Given the description of an element on the screen output the (x, y) to click on. 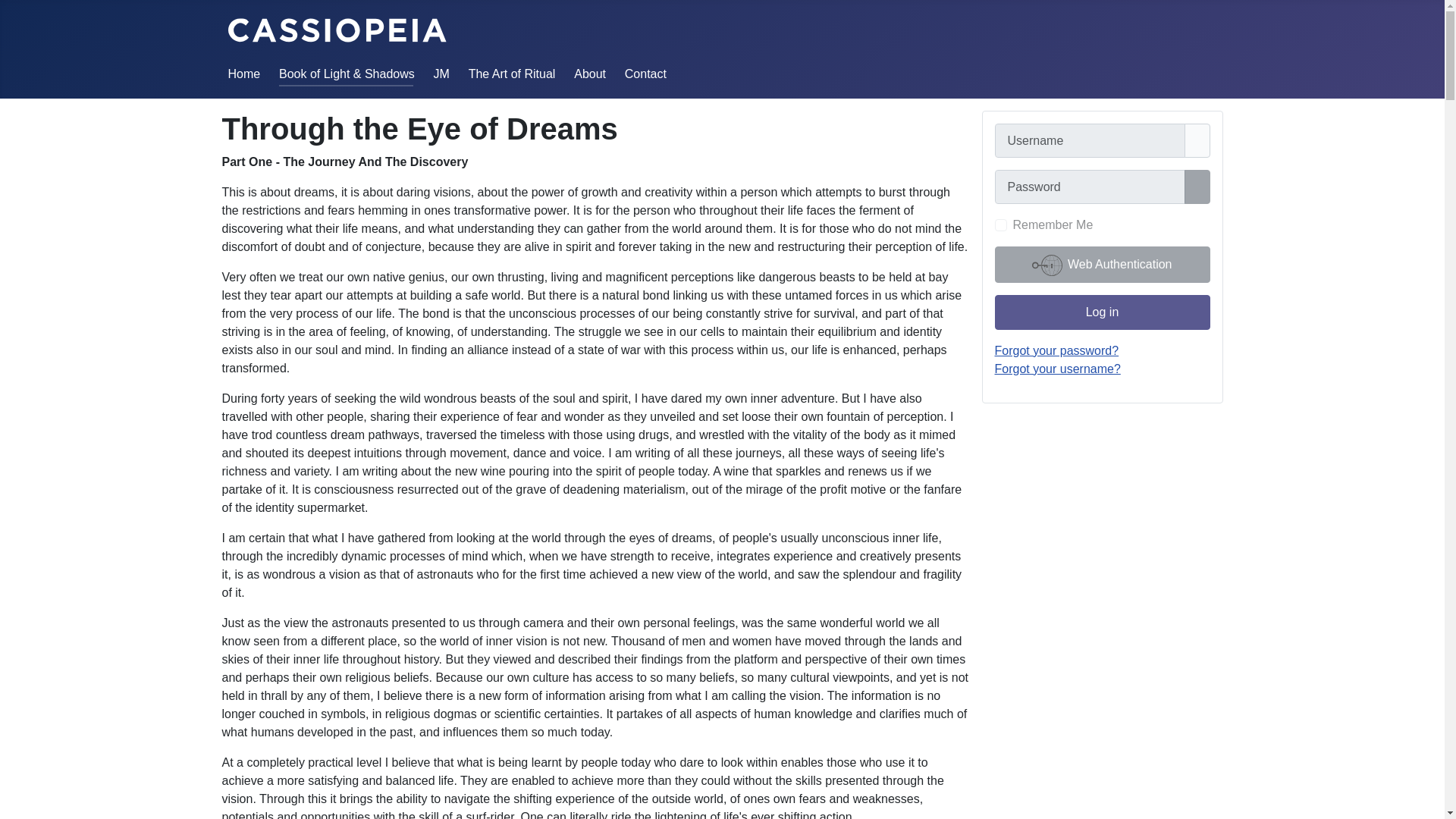
Log in (1101, 311)
Forgot your password? (1056, 350)
Web Authentication (1101, 264)
Forgot your username? (1057, 368)
Web Authentication (1101, 264)
The Art of Ritual (512, 73)
yes (1000, 224)
About (589, 73)
Contact (645, 73)
Home (243, 73)
